Given the description of an element on the screen output the (x, y) to click on. 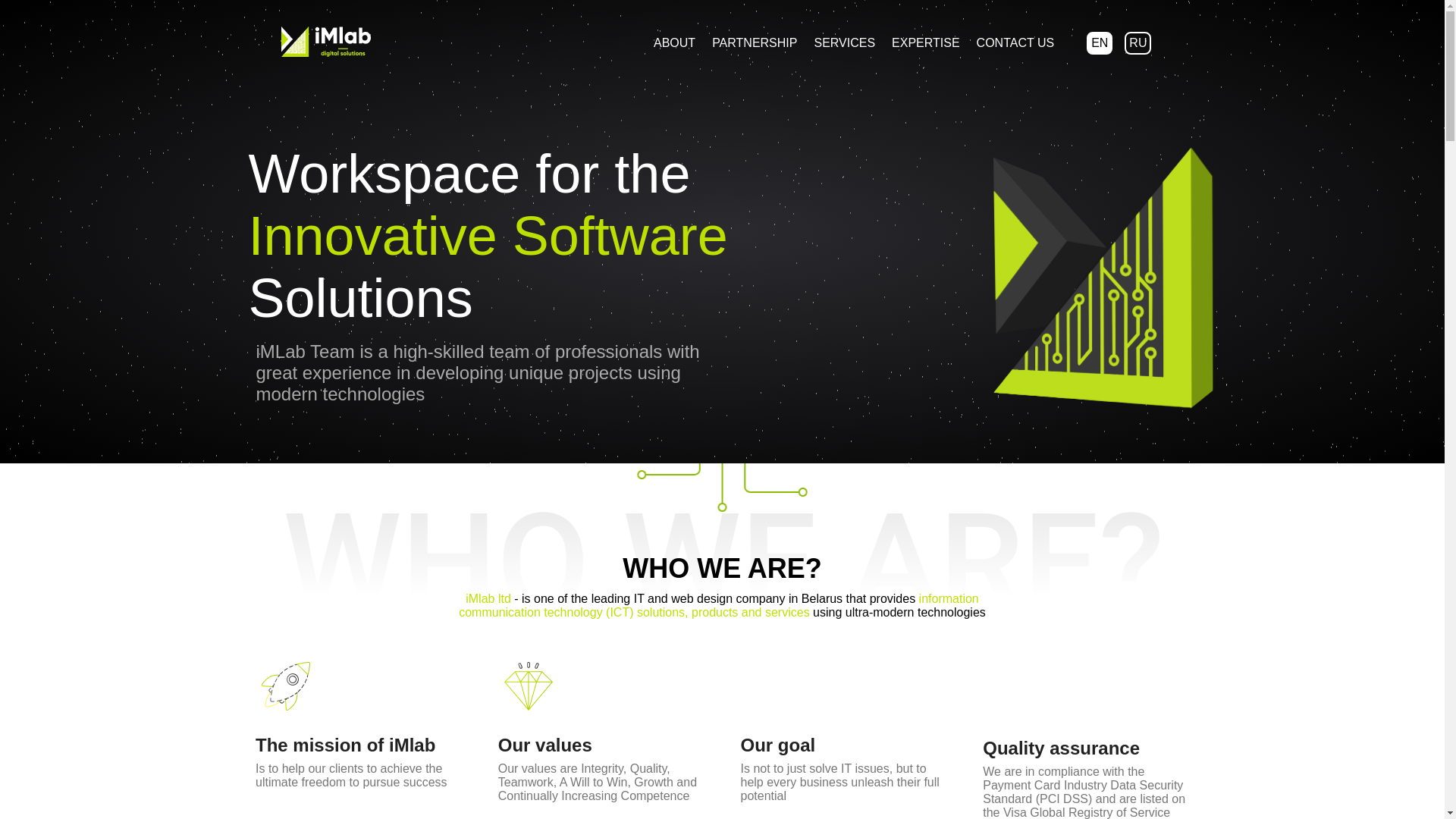
EXPERTISE Element type: text (925, 42)
ABOUT Element type: text (674, 42)
SERVICES Element type: text (844, 42)
PARTNERSHIP Element type: text (754, 42)
CONTACT US Element type: text (1015, 42)
